Given the description of an element on the screen output the (x, y) to click on. 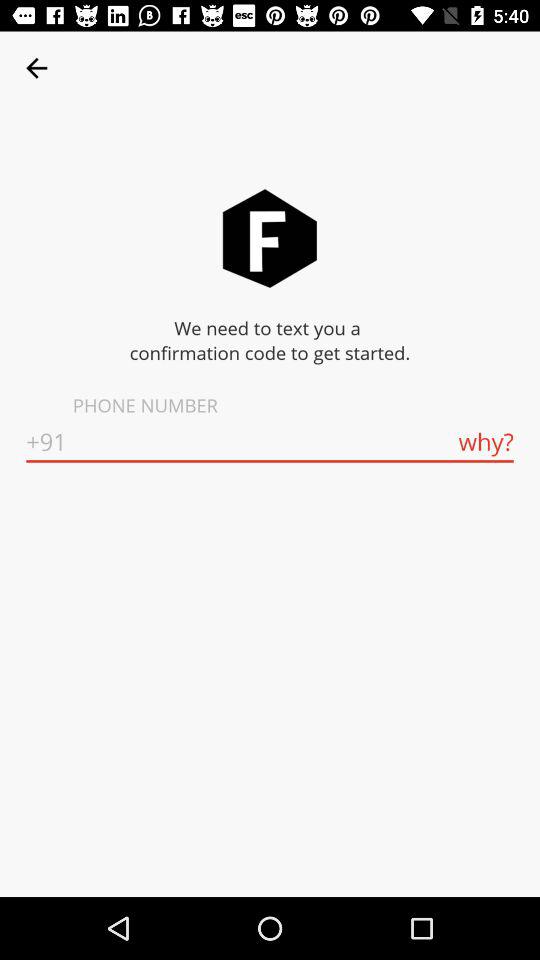
enter phone number (270, 441)
